Given the description of an element on the screen output the (x, y) to click on. 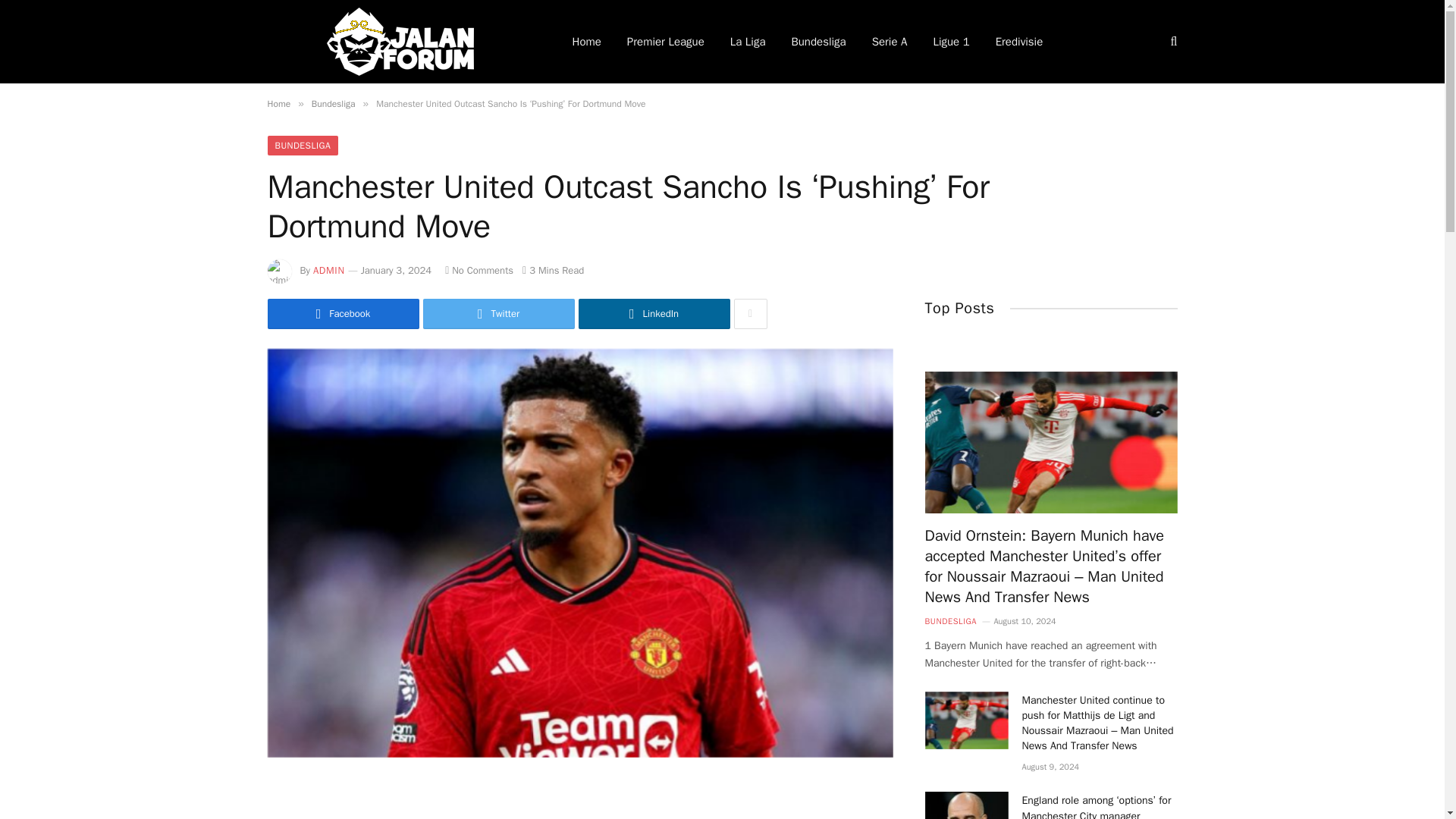
Facebook (342, 313)
Twitter (499, 313)
ADMIN (329, 269)
Premier League (665, 41)
Share on Facebook (342, 313)
BUNDESLIGA (301, 145)
Bundesliga (818, 41)
Share on LinkedIn (653, 313)
Share on Twitter (499, 313)
Bundesliga (333, 103)
